Given the description of an element on the screen output the (x, y) to click on. 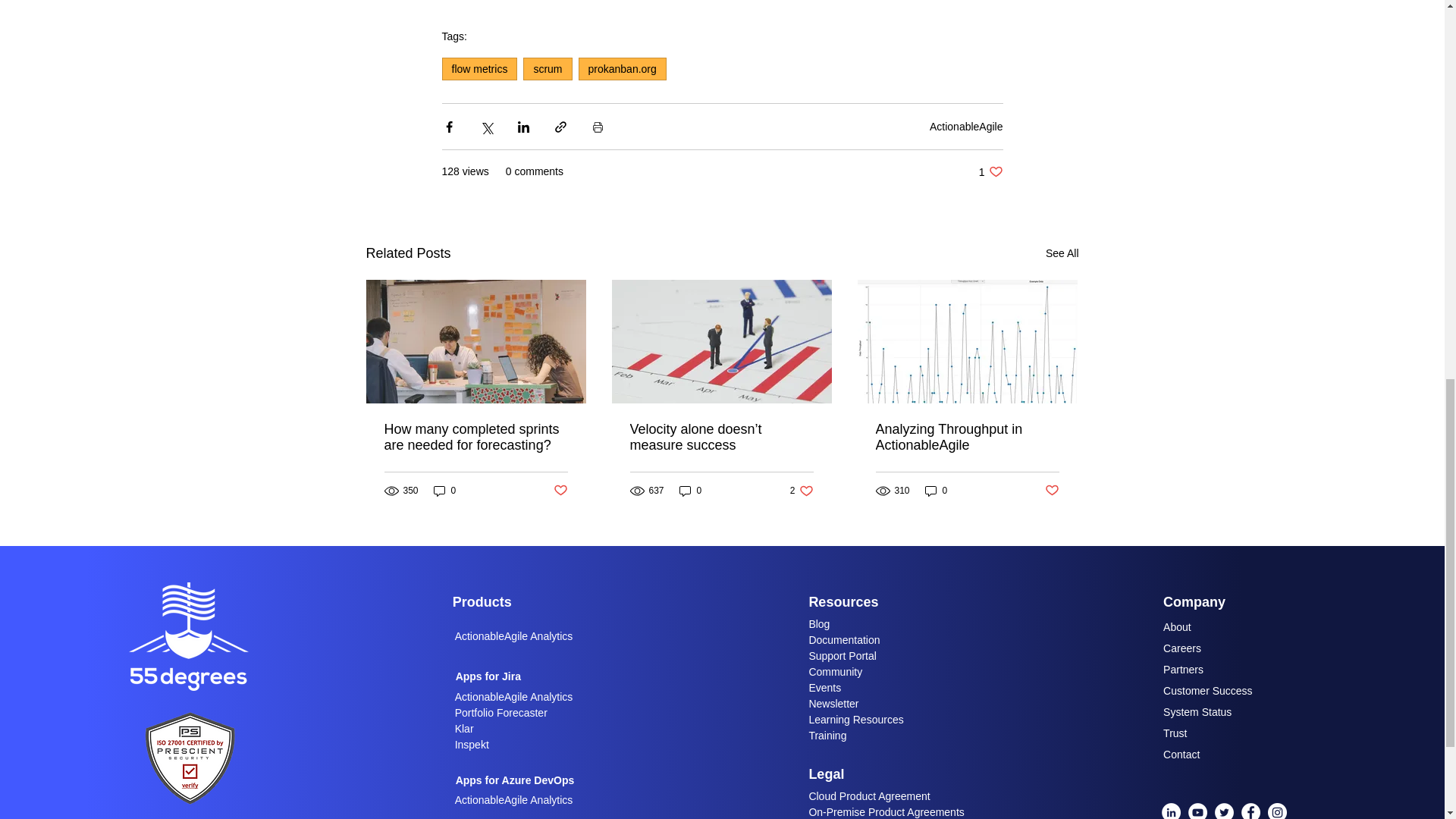
Logo 1.png (190, 757)
ActionableAgile (966, 125)
scrum (547, 68)
prokanban.org (990, 171)
How many completed sprints are needed for forecasting? (622, 68)
Post not marked as liked (475, 437)
flow metrics (560, 490)
See All (478, 68)
0 (1061, 253)
